Given the description of an element on the screen output the (x, y) to click on. 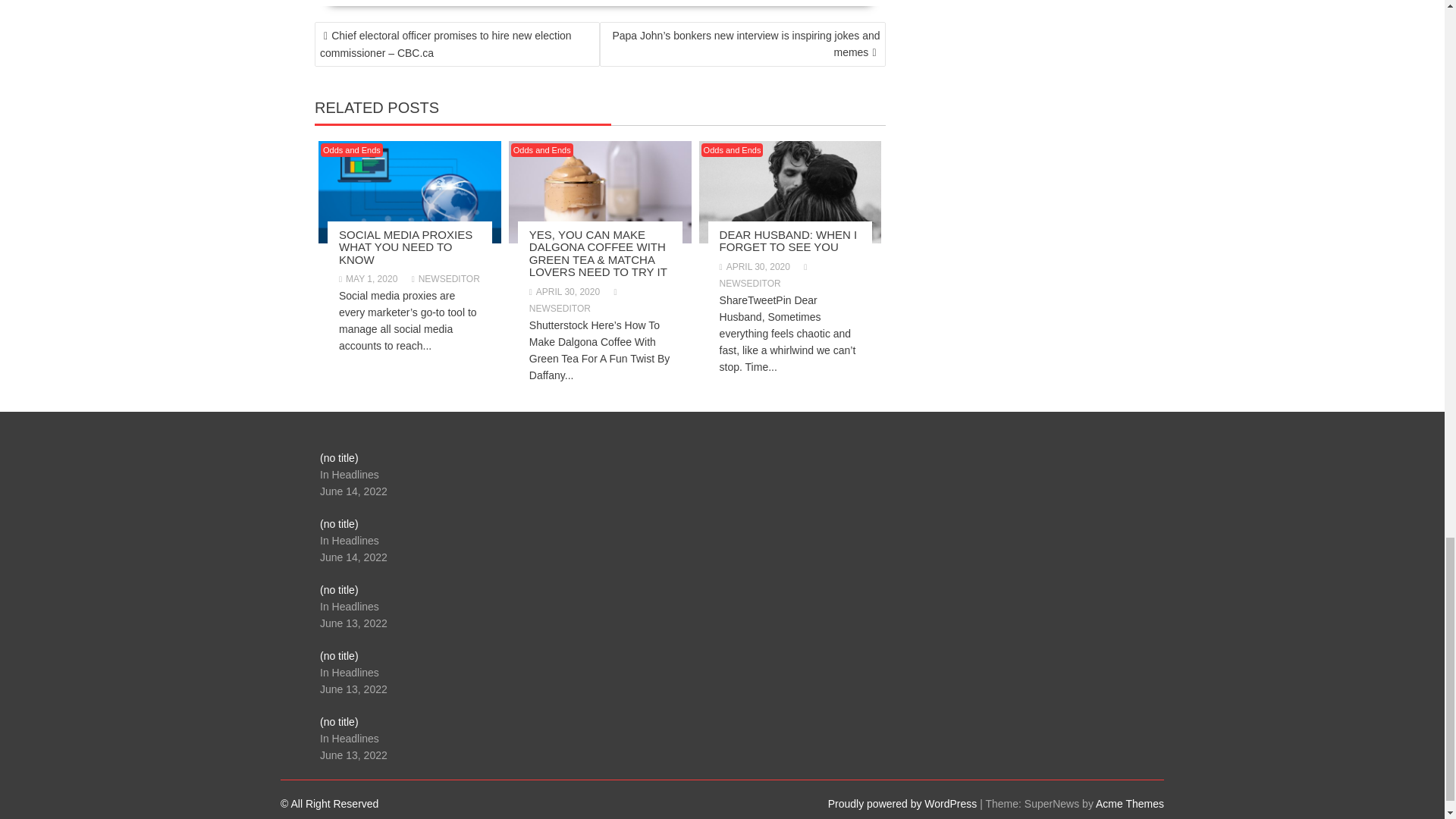
SOCIAL MEDIA PROXIES WHAT YOU NEED TO KNOW (405, 247)
NEWSEDITOR (446, 278)
Odds and Ends (351, 150)
MAY 1, 2020 (368, 278)
Odds and Ends (542, 150)
APRIL 30, 2020 (564, 291)
